Given the description of an element on the screen output the (x, y) to click on. 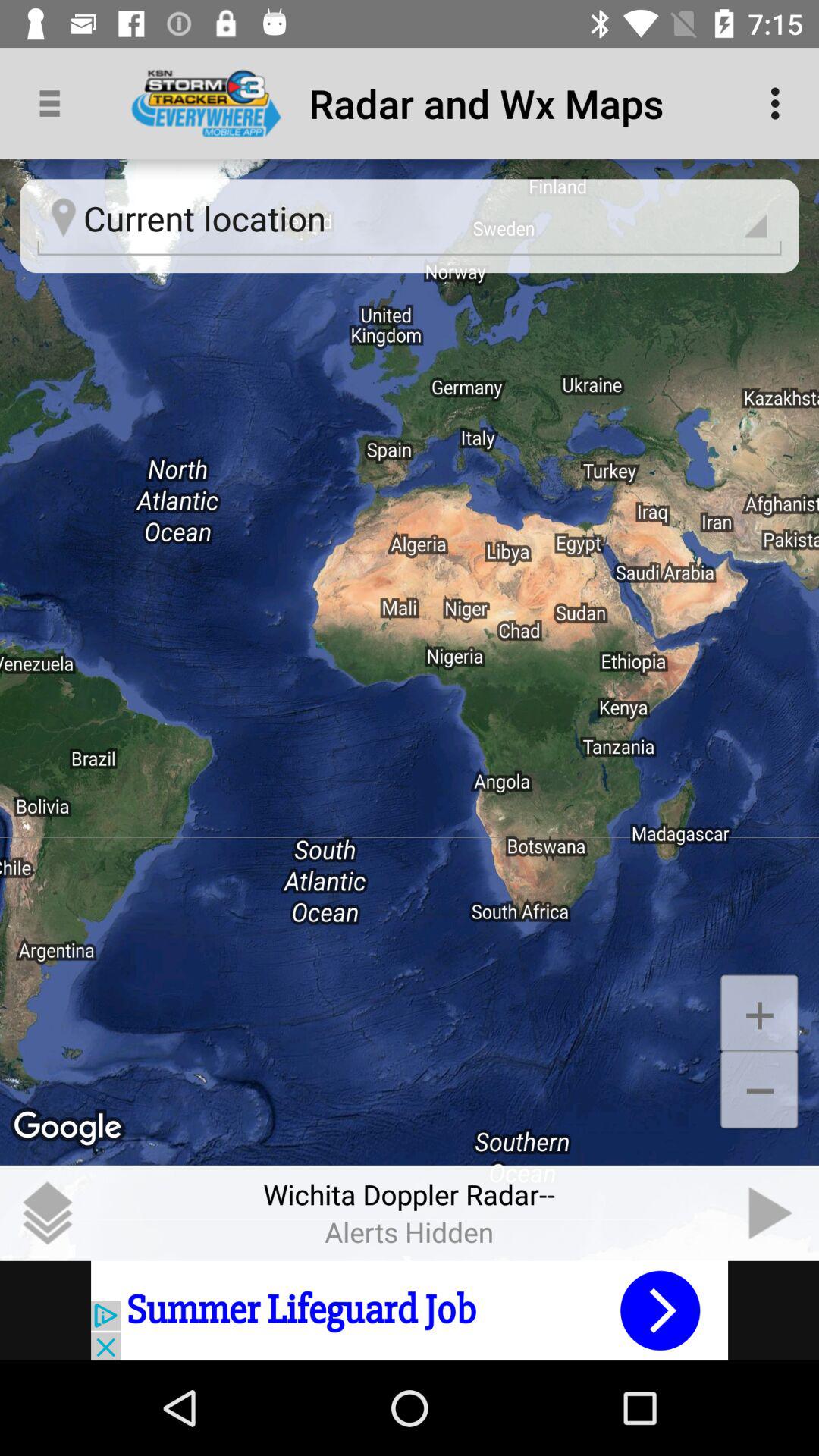
advertisement portion (409, 1310)
